Given the description of an element on the screen output the (x, y) to click on. 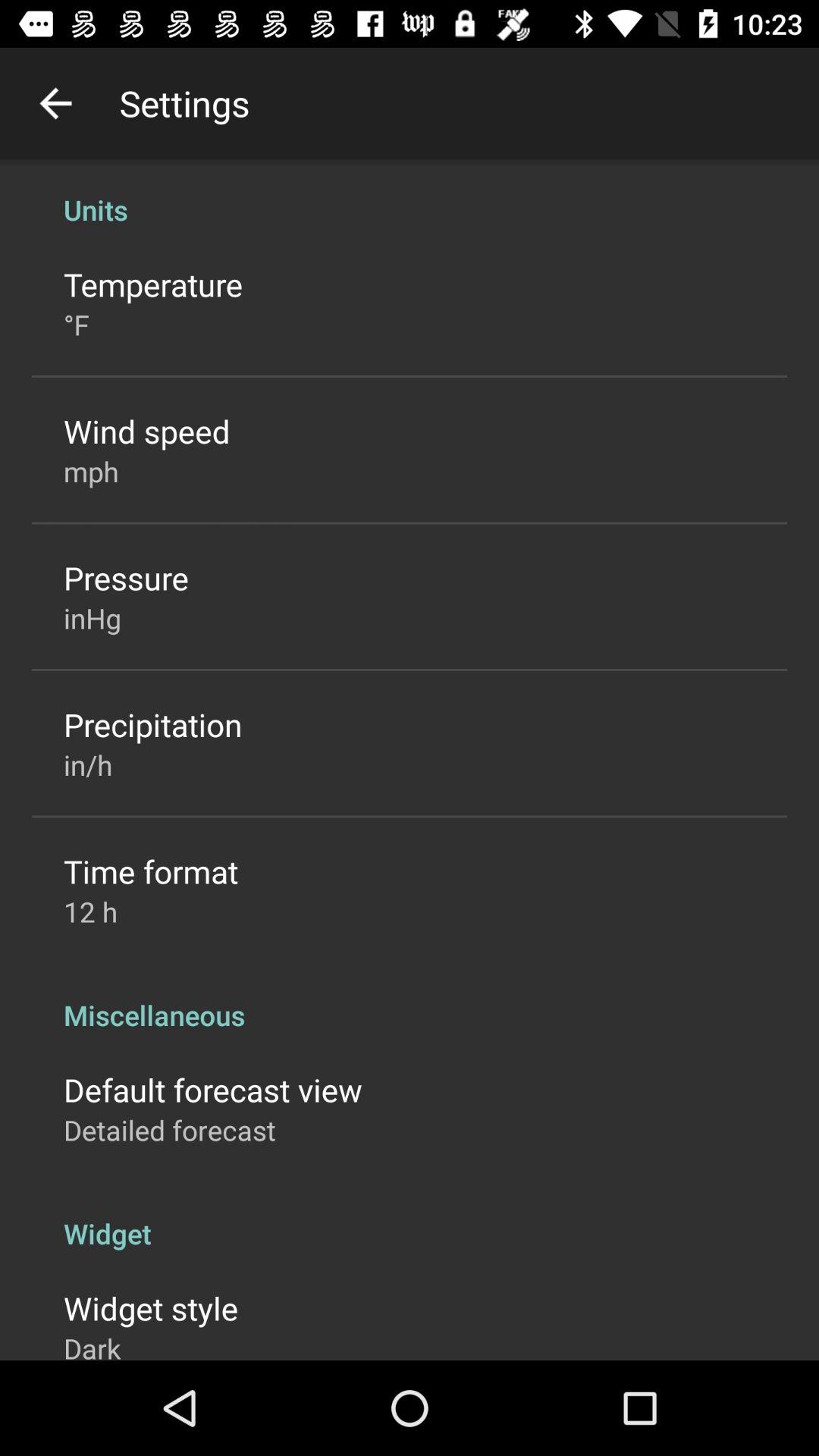
scroll to temperature icon (152, 283)
